Given the description of an element on the screen output the (x, y) to click on. 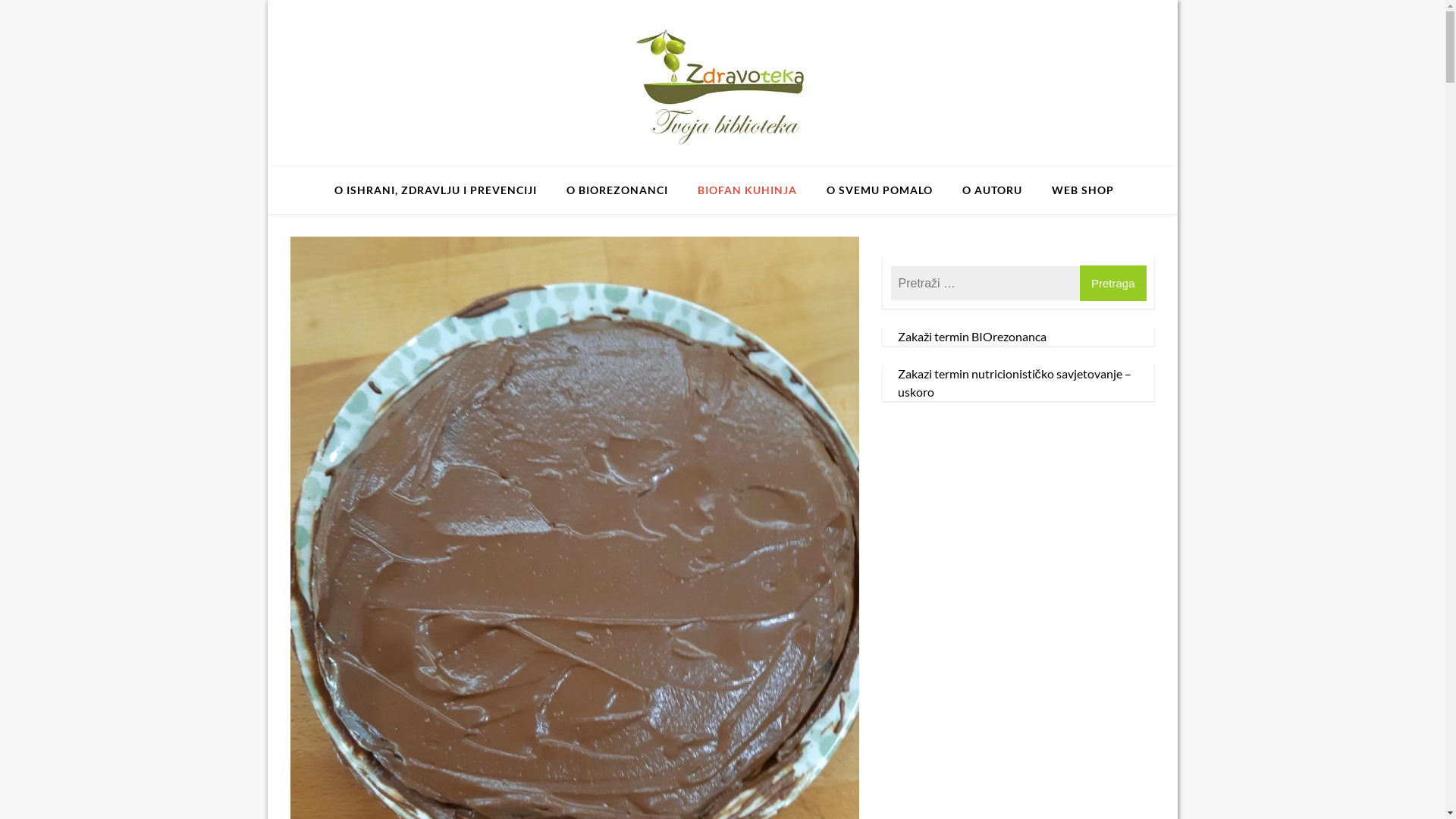
WEB SHOP Element type: text (1082, 190)
O BIOREZONANCI Element type: text (616, 190)
O ISHRANI, ZDRAVLJU I PREVENCIJI Element type: text (435, 190)
O AUTORU Element type: text (992, 190)
O SVEMU POMALO Element type: text (879, 190)
BIOFAN KUHINJA Element type: text (746, 190)
Zdravoteka Element type: text (493, 197)
Pretraga Element type: text (1112, 283)
